Given the description of an element on the screen output the (x, y) to click on. 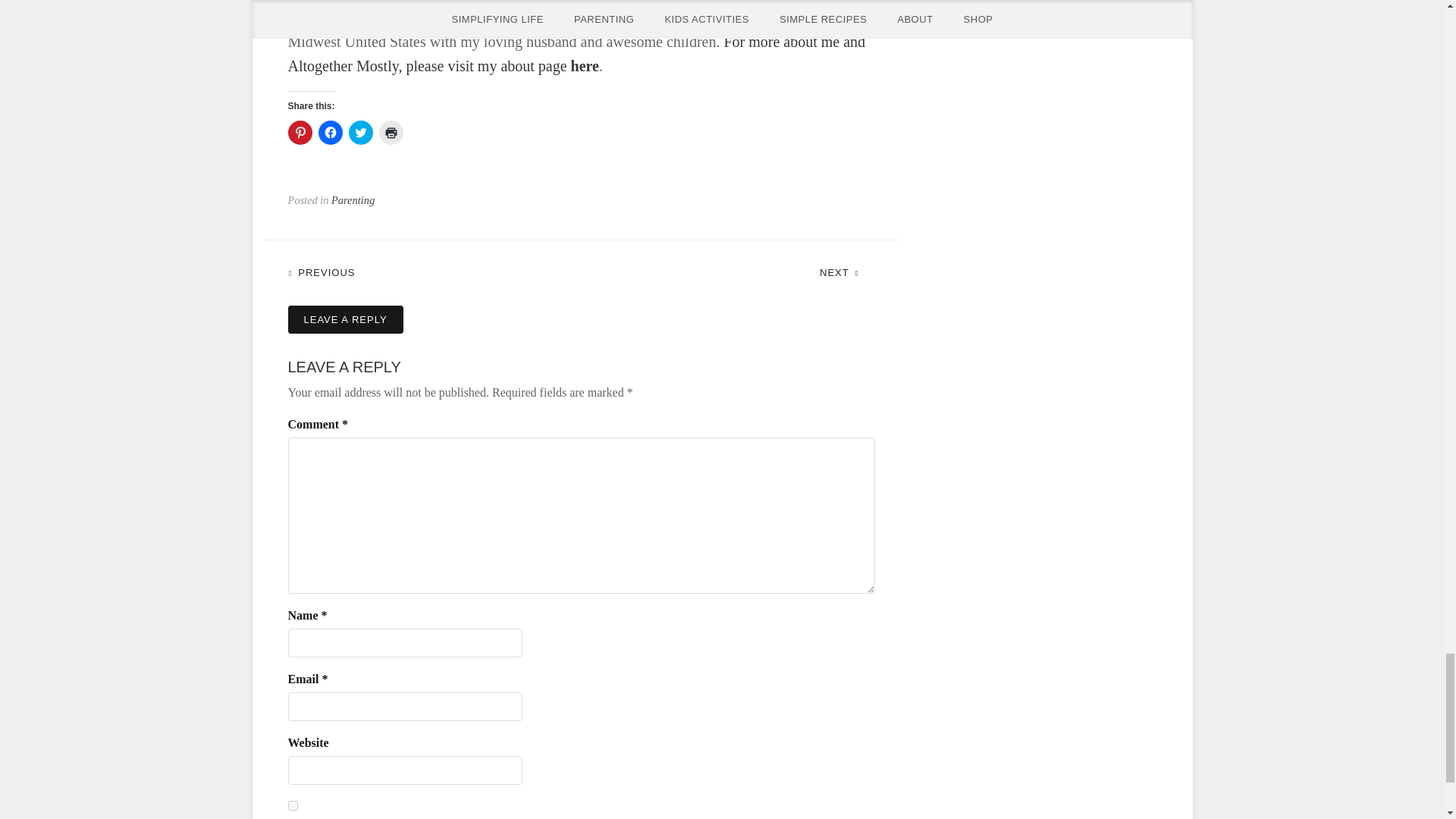
Parenting (352, 200)
Click to share on Pinterest (300, 132)
Click to share on Facebook (330, 132)
Click to print (390, 132)
Click to share on Twitter (360, 132)
NEXT (846, 271)
LEAVE A REPLY (345, 319)
yes (293, 805)
PREVIOUS (329, 271)
